Given the description of an element on the screen output the (x, y) to click on. 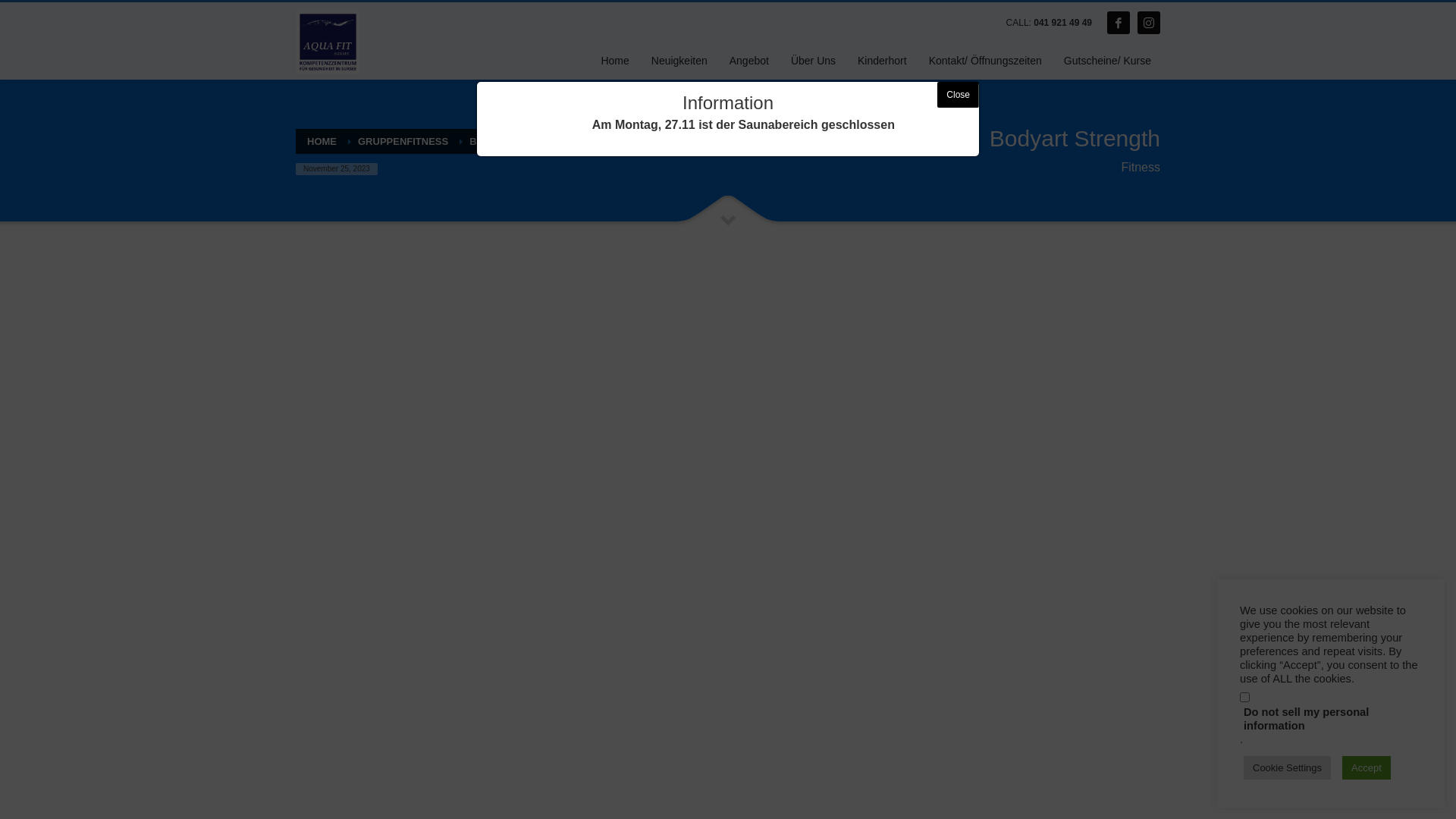
Kinderhort Element type: text (882, 60)
Instagram Element type: hover (1148, 22)
Neuigkeiten Element type: text (679, 60)
Gutscheine/ Kurse Element type: text (1107, 60)
Cookie Settings Element type: text (1286, 767)
Home Element type: text (614, 60)
041 921 49 49 Element type: text (1062, 22)
Facebook Element type: hover (1118, 22)
Angebot Element type: text (749, 60)
GRUPPENFITNESS Element type: text (402, 141)
HOME Element type: text (321, 141)
Accept Element type: text (1366, 767)
